Given the description of an element on the screen output the (x, y) to click on. 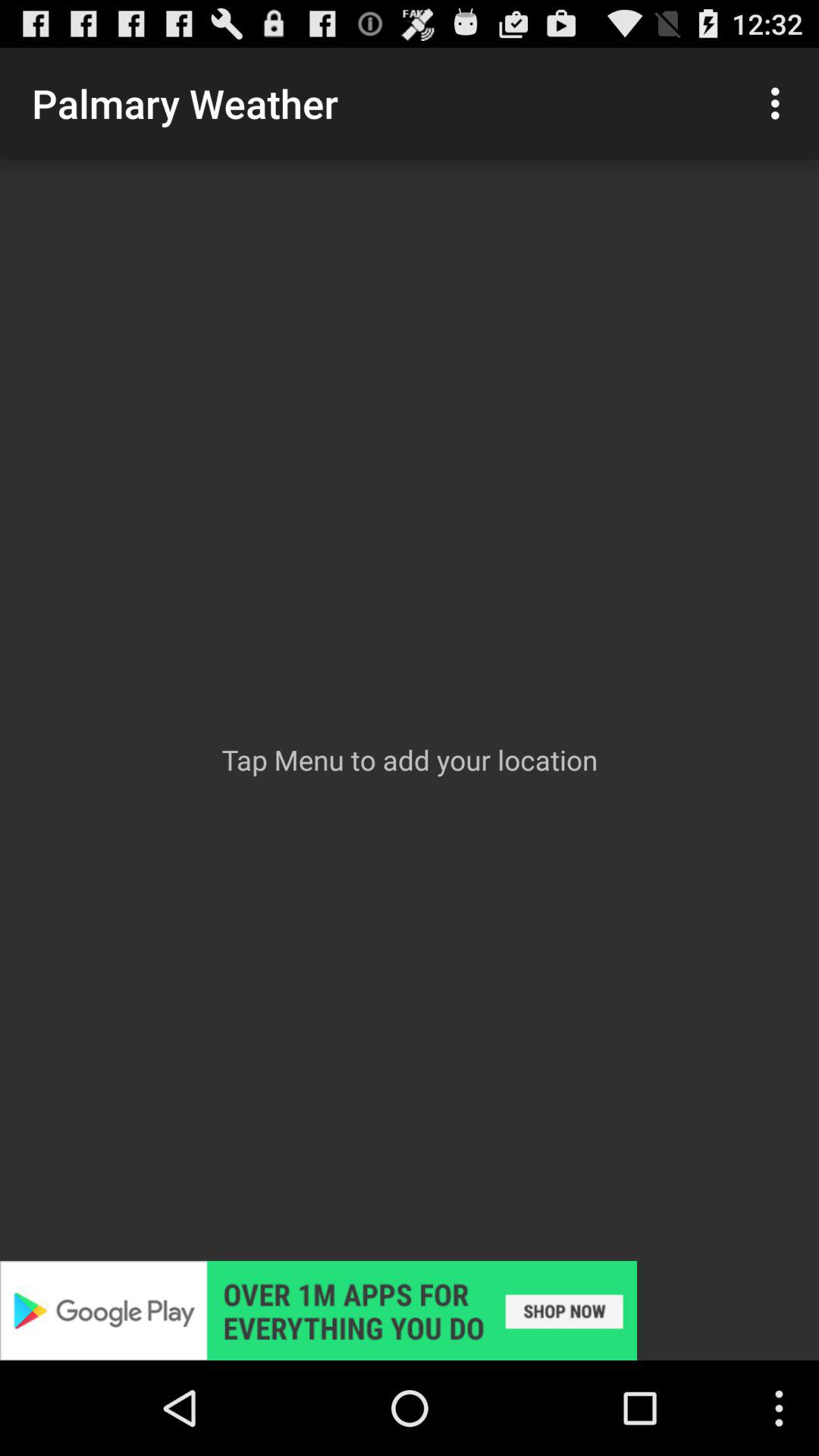
shows google play option (409, 1310)
